Given the description of an element on the screen output the (x, y) to click on. 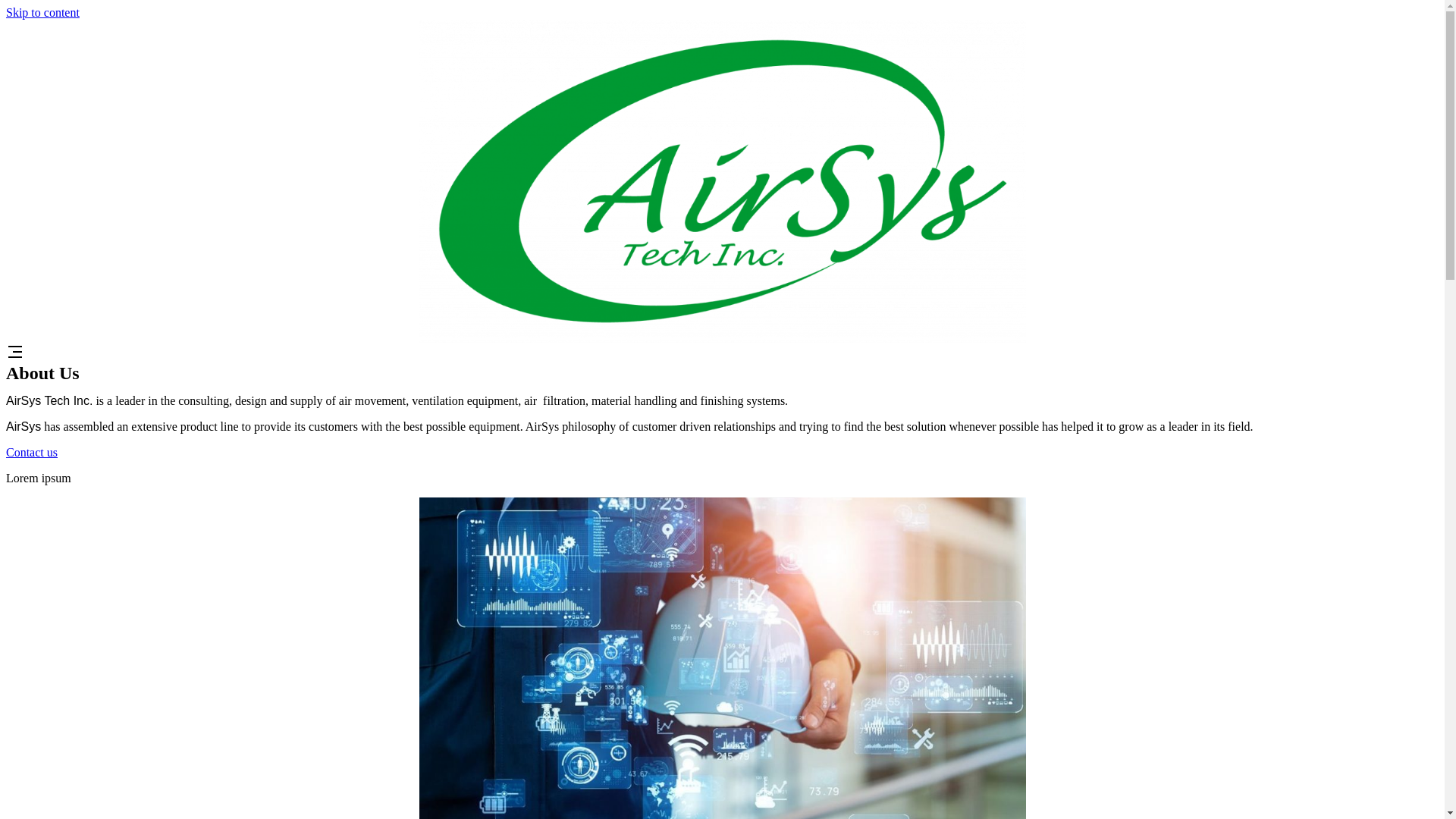
Skip to content Element type: text (42, 12)
Contact us Element type: text (31, 451)
